Given the description of an element on the screen output the (x, y) to click on. 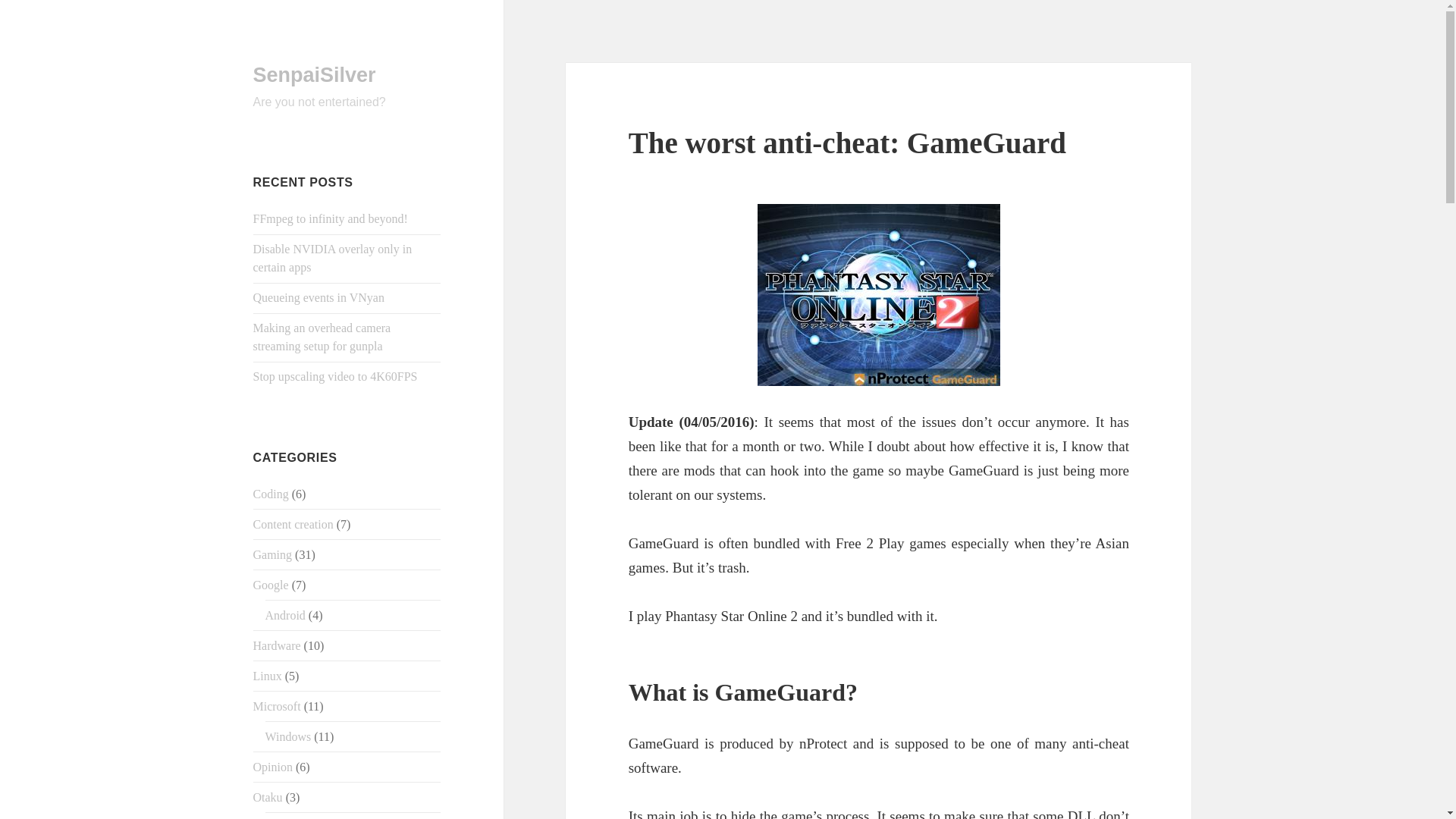
FFmpeg to infinity and beyond! (330, 218)
Android (284, 615)
Otaku (267, 797)
Linux (267, 675)
Opinion (272, 766)
Gaming (272, 554)
Hardware (277, 645)
SenpaiSilver (314, 74)
Windows (287, 736)
Microsoft (277, 706)
